Given the description of an element on the screen output the (x, y) to click on. 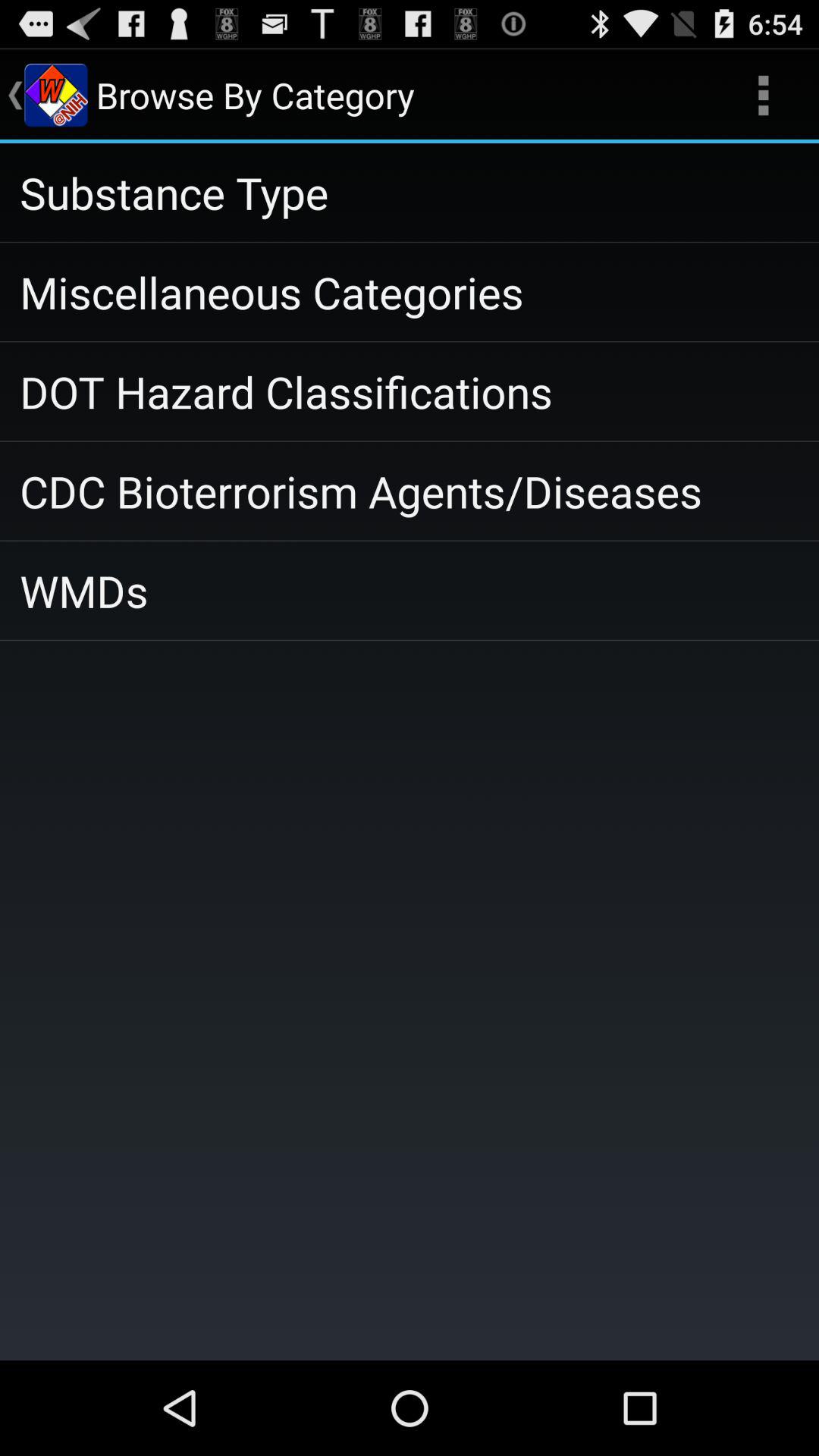
press item next to browse by category item (763, 95)
